Given the description of an element on the screen output the (x, y) to click on. 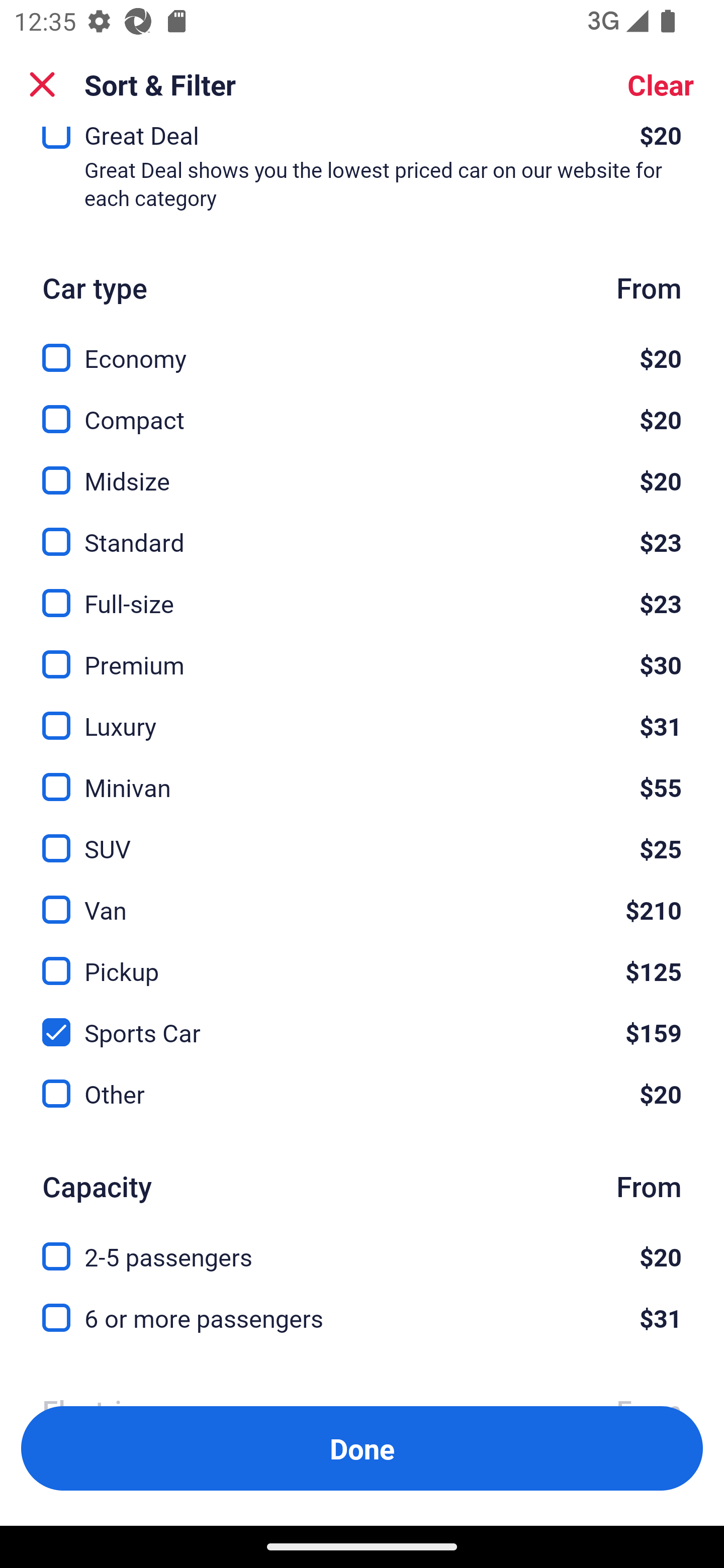
Close Sort and Filter (42, 84)
Clear (660, 84)
Economy, $20 Economy $20 (361, 346)
Compact, $20 Compact $20 (361, 408)
Midsize, $20 Midsize $20 (361, 469)
Standard, $23 Standard $23 (361, 530)
Full-size, $23 Full-size $23 (361, 591)
Premium, $30 Premium $30 (361, 652)
Luxury, $31 Luxury $31 (361, 713)
Minivan, $55 Minivan $55 (361, 774)
SUV, $25 SUV $25 (361, 836)
Van, $210 Van $210 (361, 898)
Pickup, $125 Pickup $125 (361, 959)
Sports Car, $159 Sports Car $159 (361, 1021)
Other, $20 Other $20 (361, 1094)
2-5 passengers, $20 2-5 passengers $20 (361, 1245)
6 or more passengers, $31 6 or more passengers $31 (361, 1318)
Apply and close Sort and Filter Done (361, 1448)
